Given the description of an element on the screen output the (x, y) to click on. 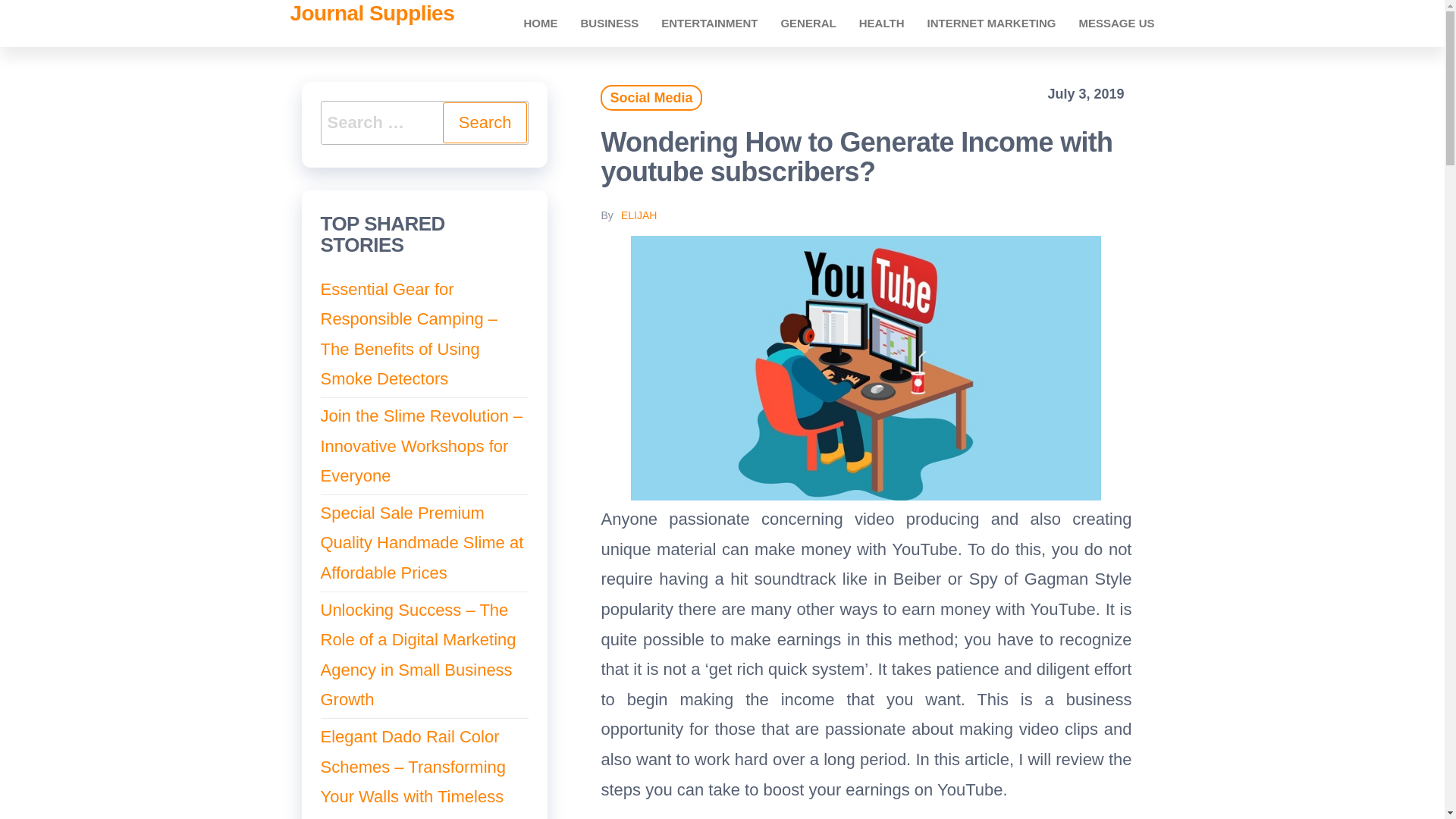
INTERNET MARKETING (991, 22)
Journal Supplies (371, 13)
Business (609, 22)
Entertainment (708, 22)
Message us (1116, 22)
Health (881, 22)
GENERAL (807, 22)
Home (540, 22)
Search (484, 122)
